Given the description of an element on the screen output the (x, y) to click on. 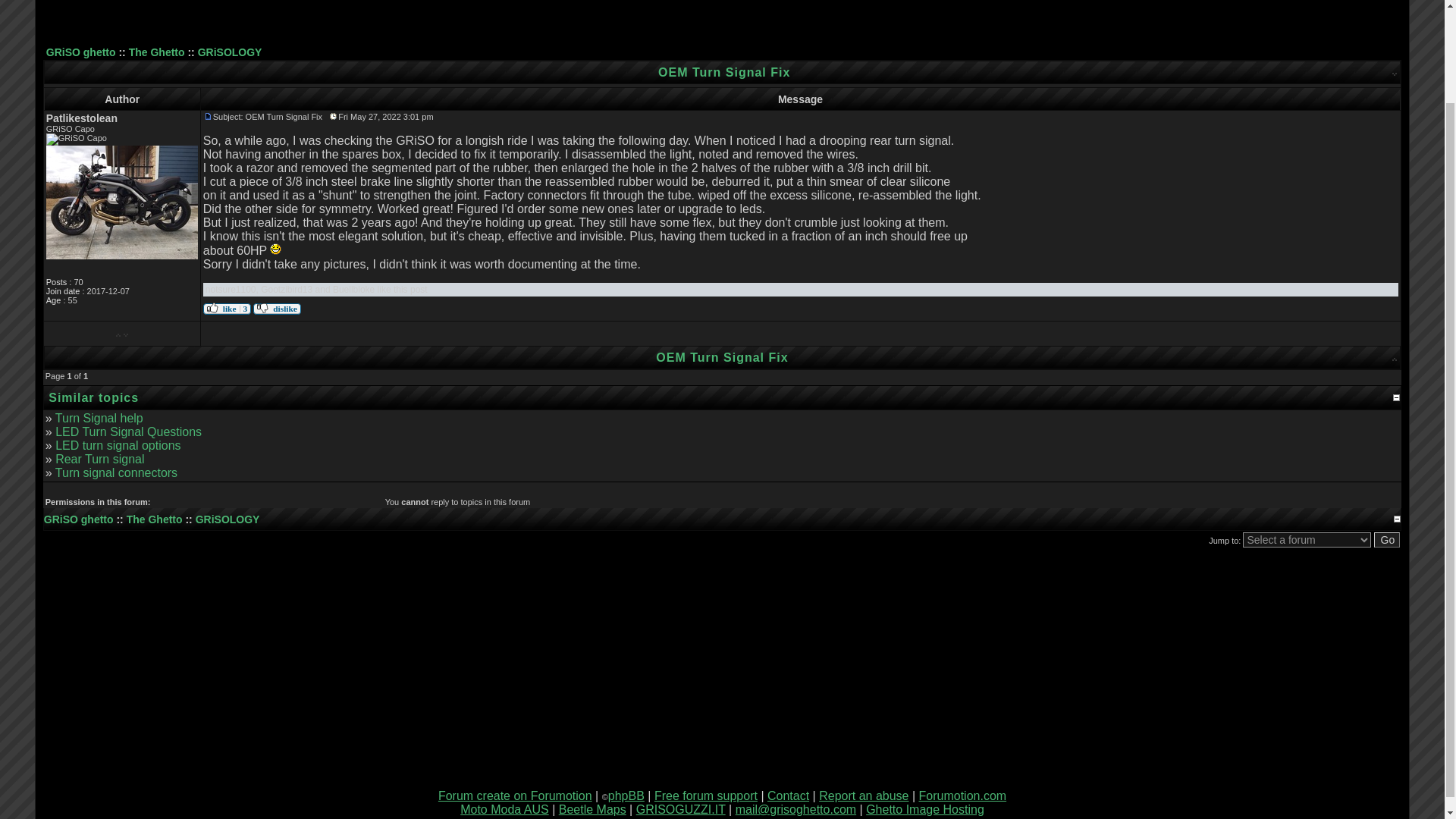
LED Turn Signal Questions (128, 431)
Post (207, 116)
GRiSO ghetto (81, 51)
GRiSO ghetto (78, 519)
Contact (788, 795)
Click to visit the Italian "Original" GRiSO forum (680, 809)
GRiSO ghetto Mailbox (795, 809)
LED turn signal options (117, 445)
Go (1387, 539)
GRiSOLOGY (230, 51)
Rear Turn signal (99, 459)
Go (1387, 539)
like3 (226, 308)
phpBB (626, 795)
Turn signal connectors (116, 472)
